Given the description of an element on the screen output the (x, y) to click on. 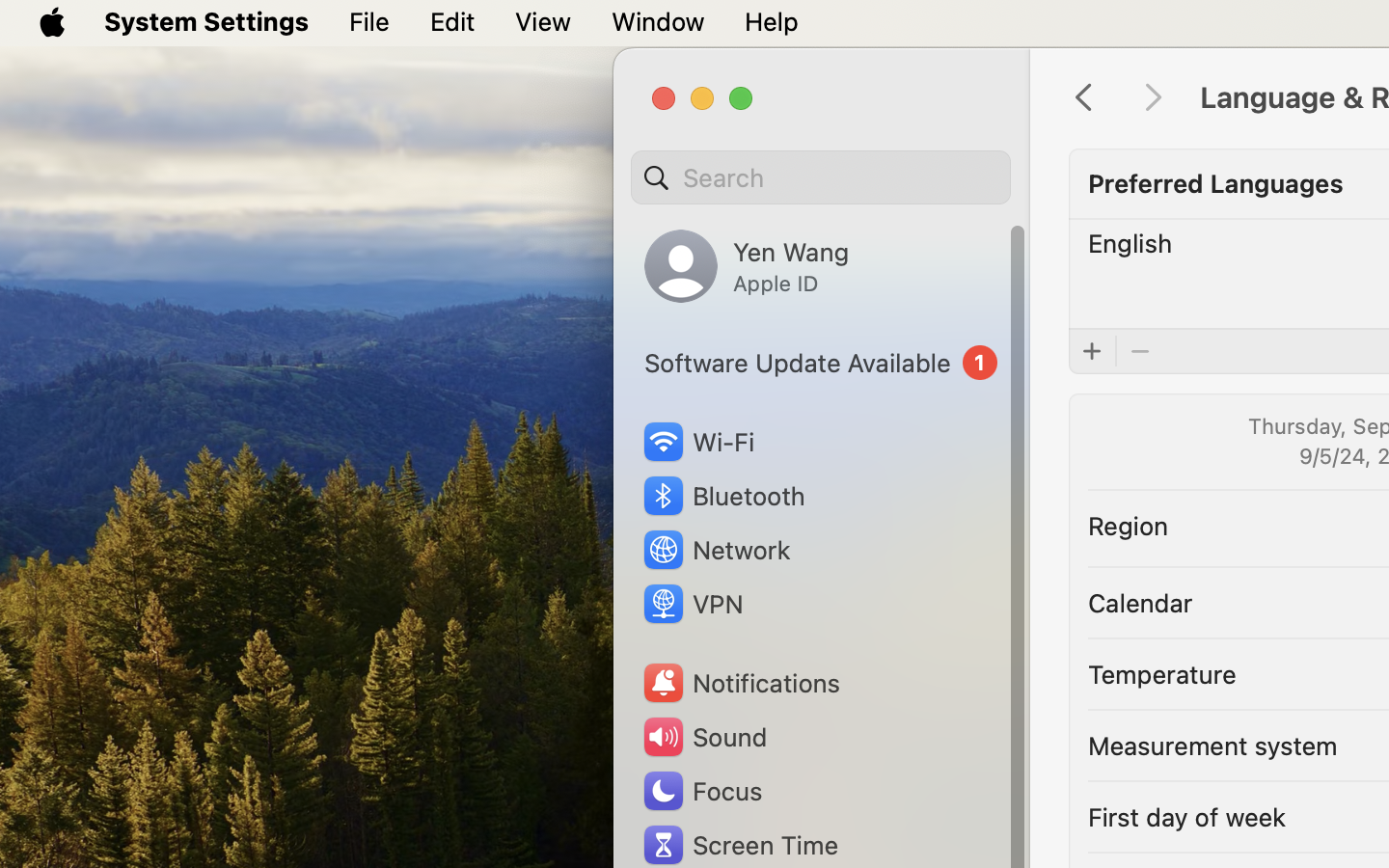
Yen Wang, Apple ID Element type: AXStaticText (746, 265)
Measurement system Element type: AXStaticText (1212, 744)
Wi‑Fi Element type: AXStaticText (697, 441)
Region Element type: AXStaticText (1128, 524)
Focus Element type: AXStaticText (701, 790)
